Given the description of an element on the screen output the (x, y) to click on. 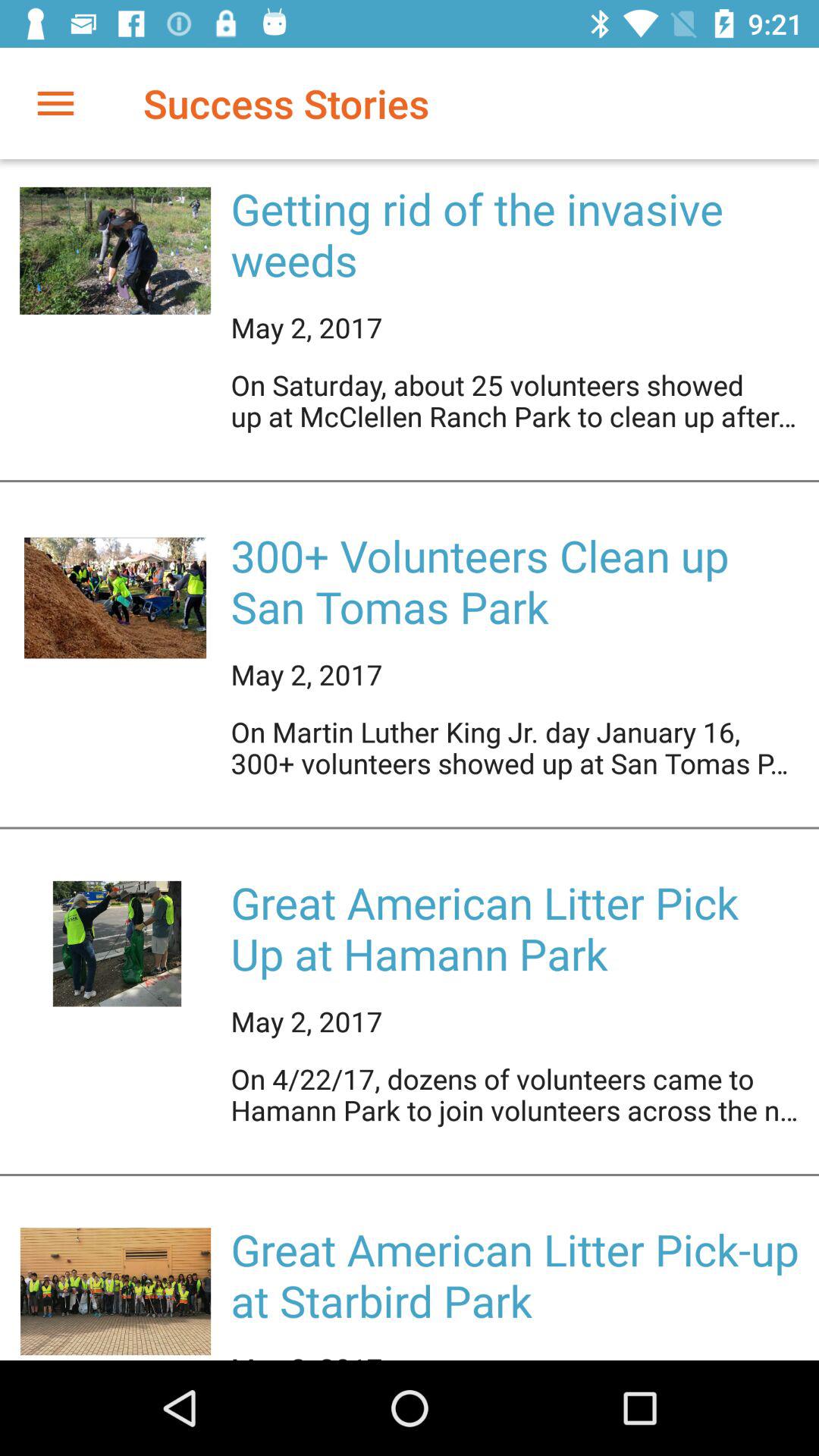
select the icon next to success stories item (55, 103)
